Given the description of an element on the screen output the (x, y) to click on. 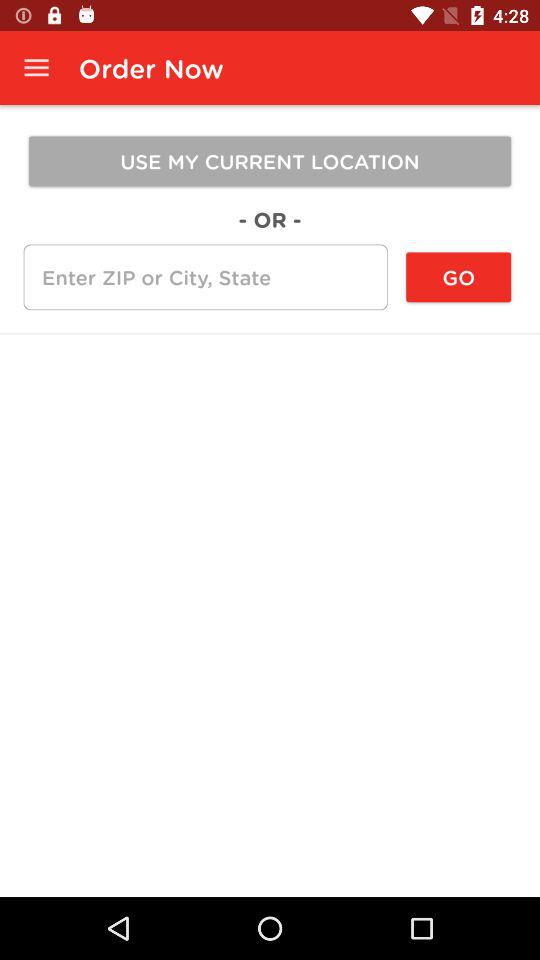
press the icon next to the go icon (205, 277)
